Given the description of an element on the screen output the (x, y) to click on. 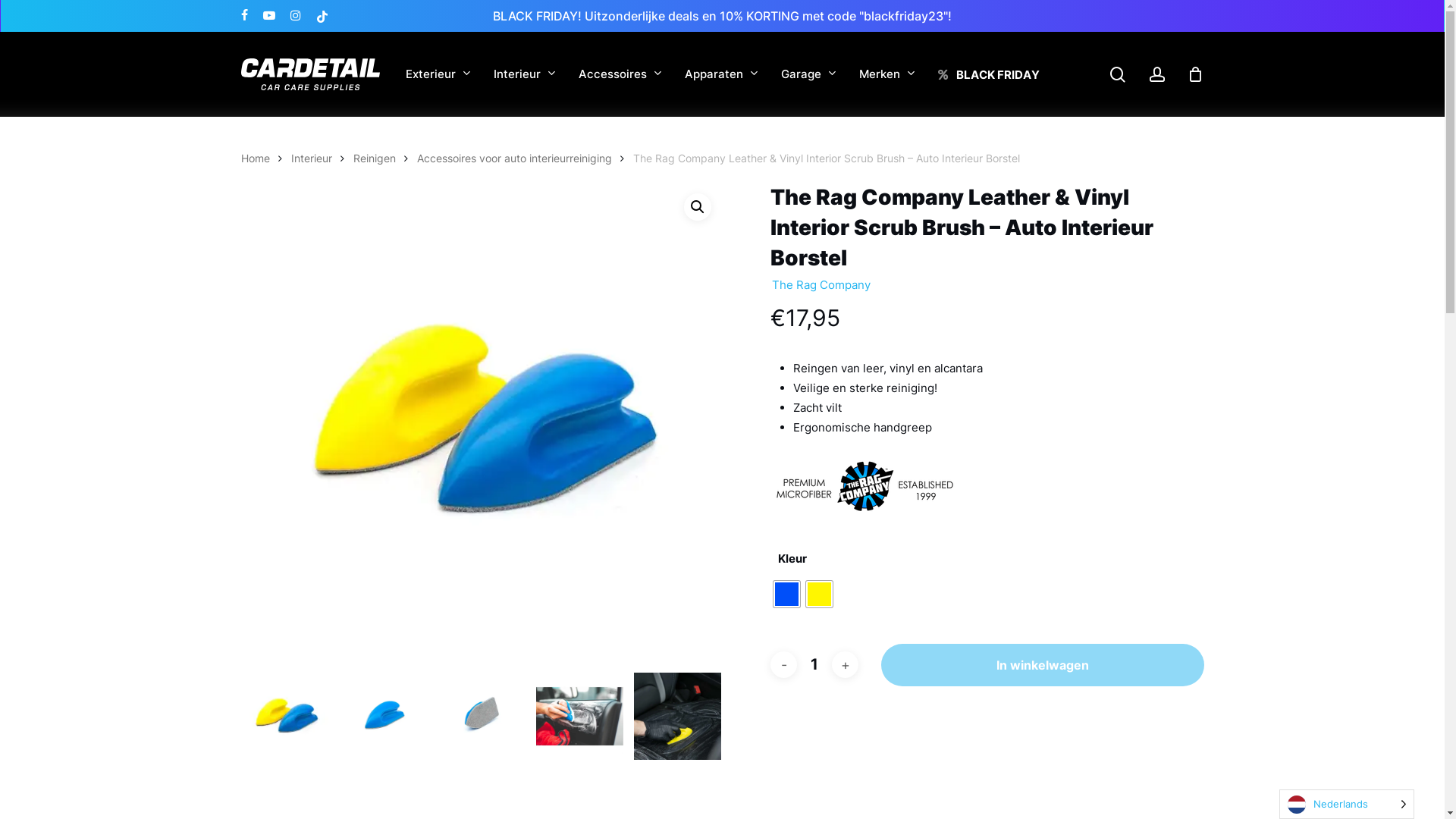
tiktok Element type: text (321, 15)
Accessoires Element type: text (619, 74)
The Rag Company Leer & Vinyl Interieur Scrub Borstel Element type: hover (481, 422)
Garage Element type: text (808, 74)
Blauw Element type: hover (786, 593)
Exterieur Element type: text (437, 74)
youtube Element type: text (268, 15)
facebook Element type: text (244, 15)
Interieur Element type: text (523, 74)
search Element type: text (1117, 74)
Apparaten Element type: text (720, 74)
BLACK FRIDAY Element type: text (987, 73)
Accessoires voor auto interieurreiniging Element type: text (514, 158)
Merken Element type: text (886, 74)
Geel Element type: hover (819, 593)
Interieur Element type: text (311, 158)
Reinigen Element type: text (374, 158)
Home Element type: text (255, 158)
instagram Element type: text (294, 15)
The Rag Company Element type: text (821, 284)
In winkelwagen Element type: text (1042, 664)
account Element type: text (1157, 74)
